Given the description of an element on the screen output the (x, y) to click on. 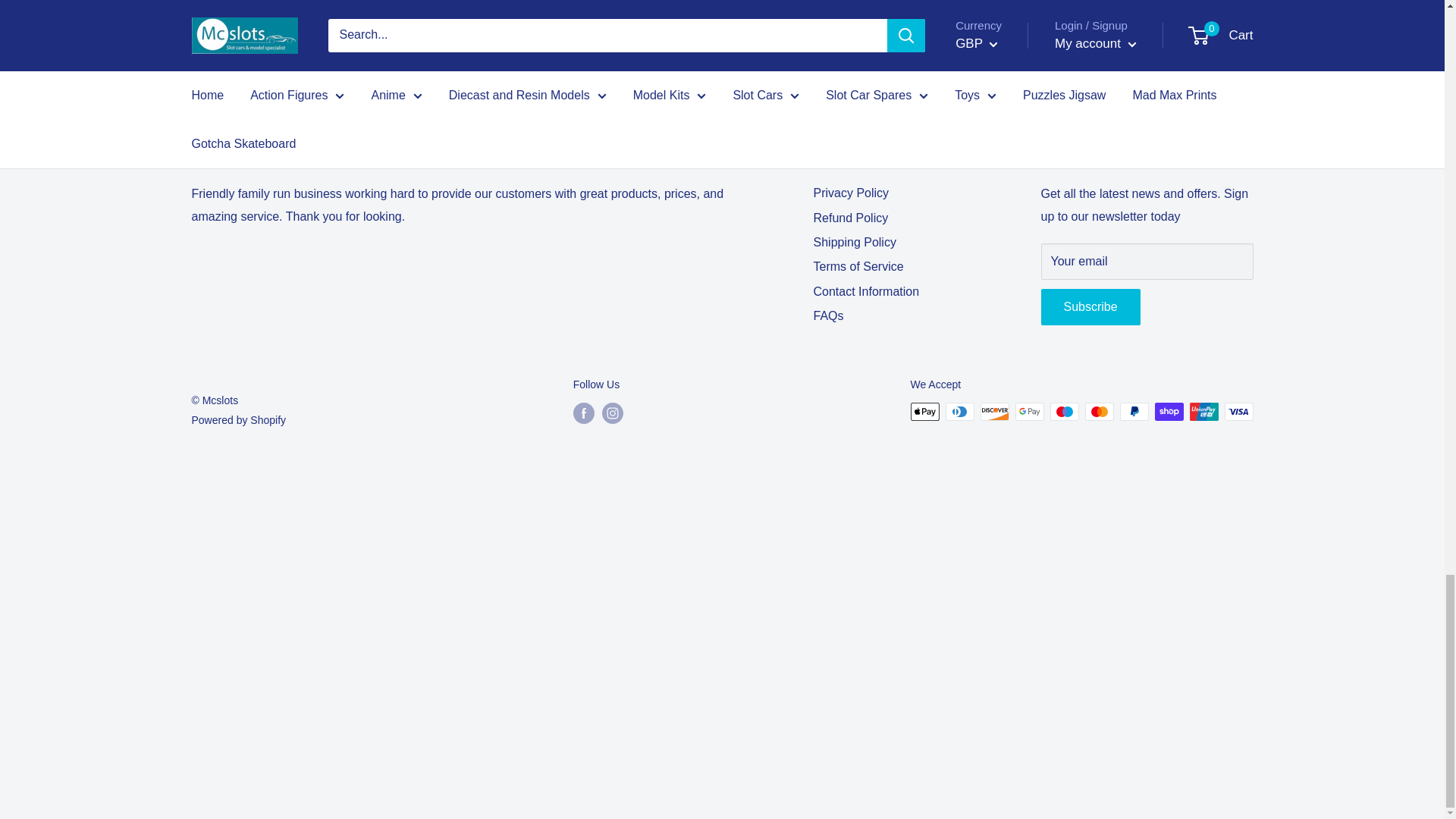
tel:07940800614 (543, 56)
